Given the description of an element on the screen output the (x, y) to click on. 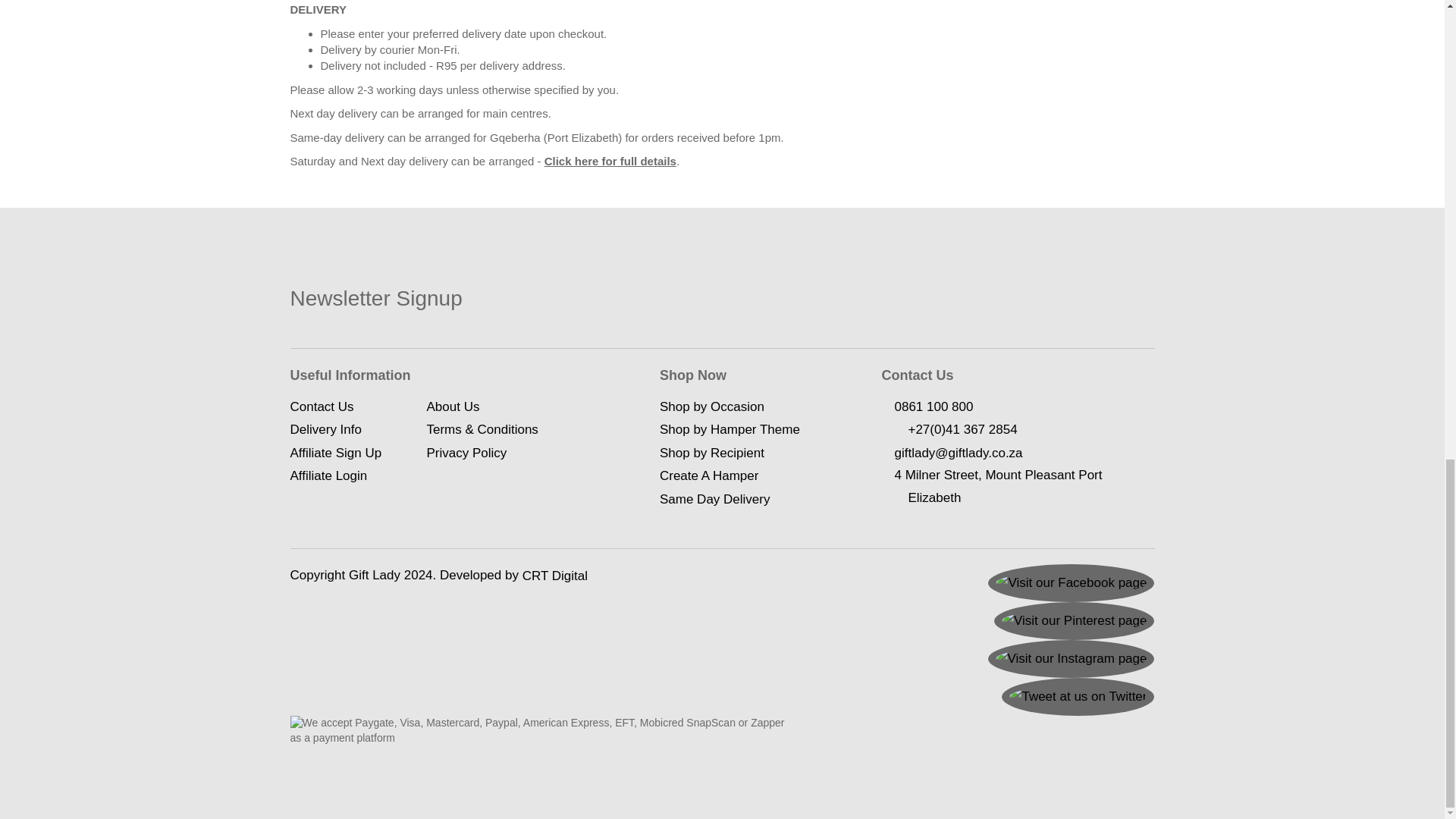
Tweet at us on Twitter (1077, 696)
Visit our Pinterest page (1074, 620)
Visit our Facebook page (1071, 582)
Visit our Instagram page (1071, 658)
